Given the description of an element on the screen output the (x, y) to click on. 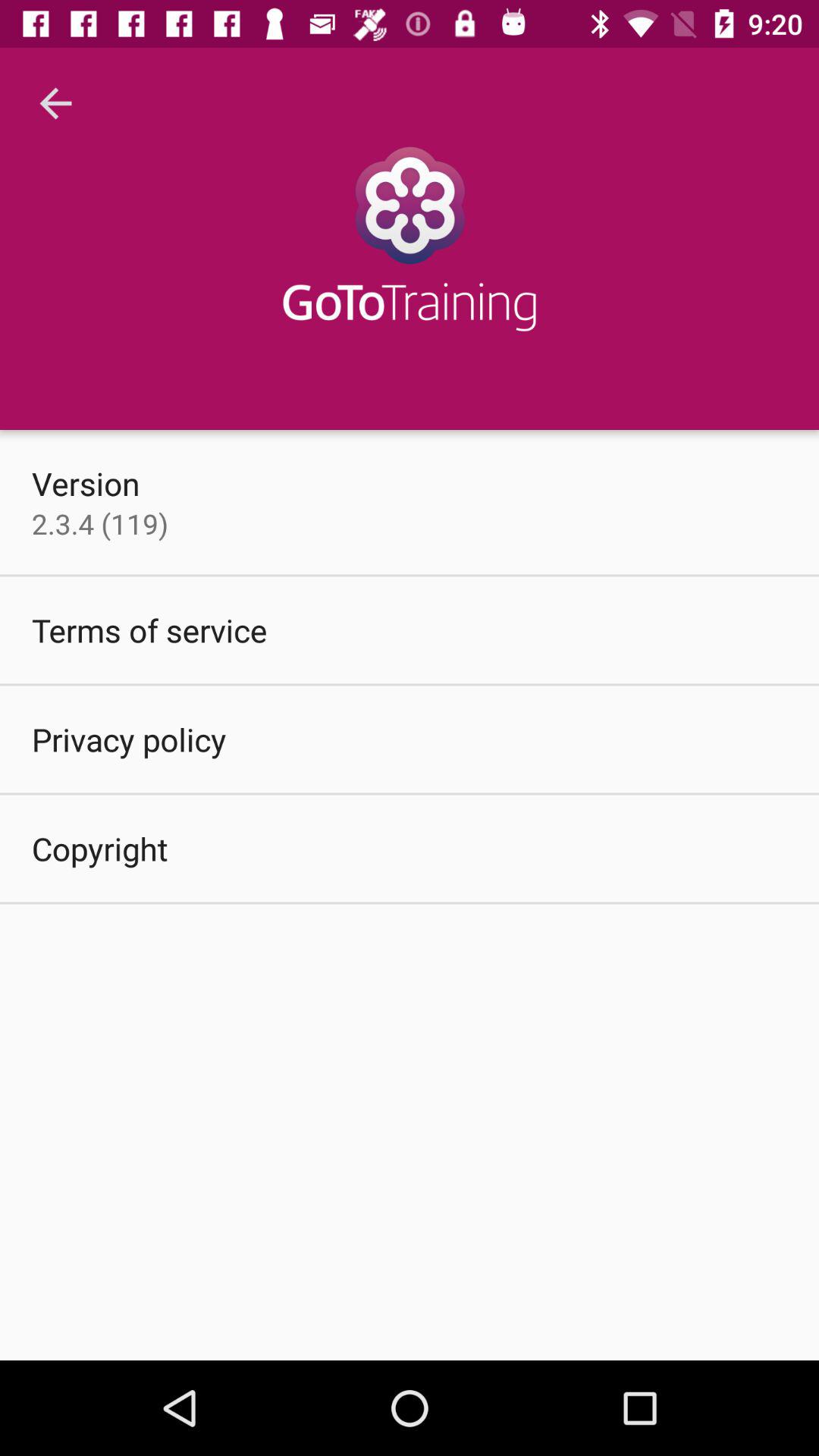
click privacy policy icon (128, 738)
